Given the description of an element on the screen output the (x, y) to click on. 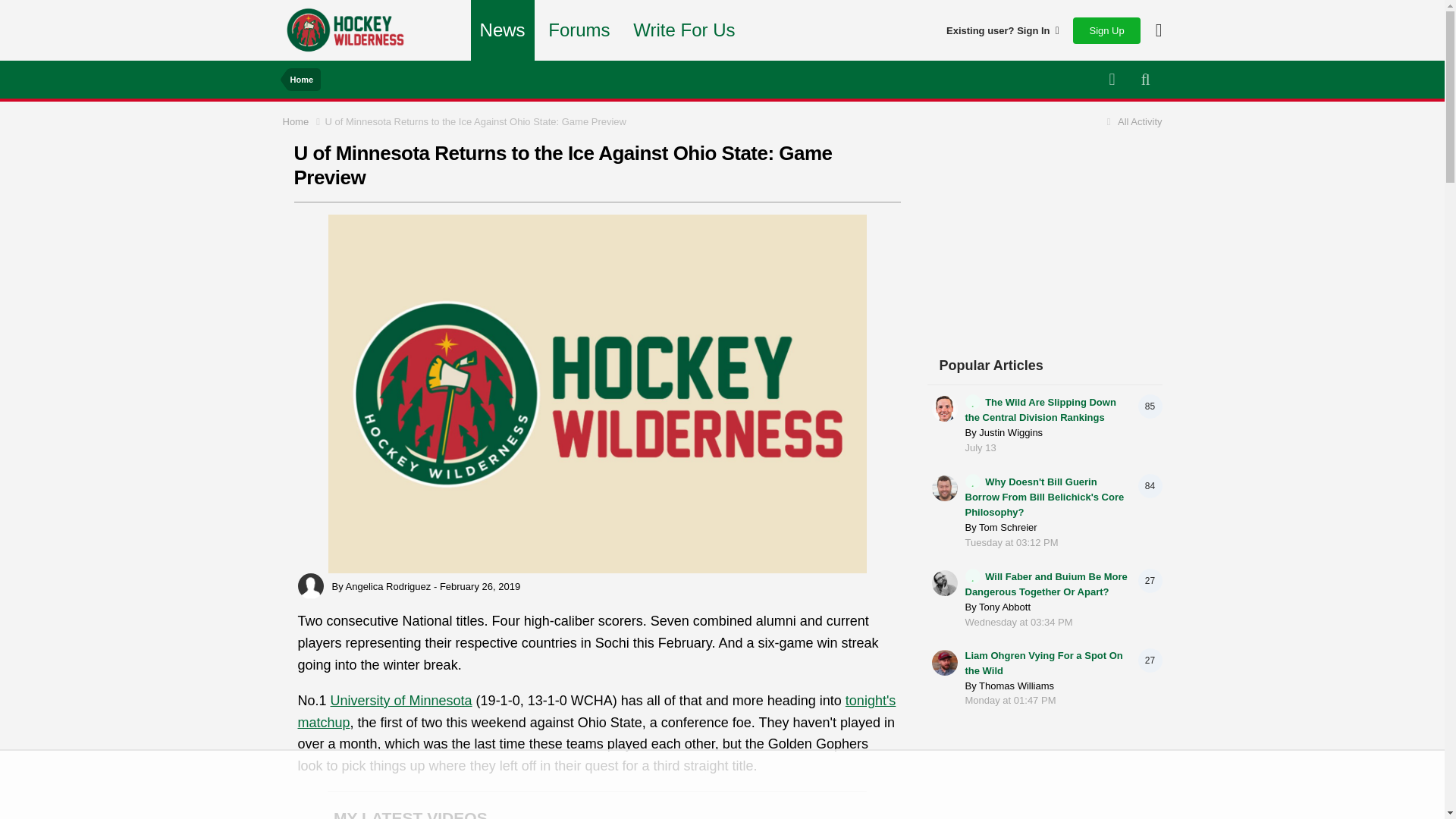
University of Minnesota (400, 700)
Sign Up (1106, 29)
Home (303, 121)
Existing user? Sign In   (1002, 30)
tonight's matchup (596, 711)
Write For Us (684, 30)
Home (303, 121)
All Activity (1131, 121)
Home (301, 78)
Forums (578, 30)
News (502, 30)
